Given the description of an element on the screen output the (x, y) to click on. 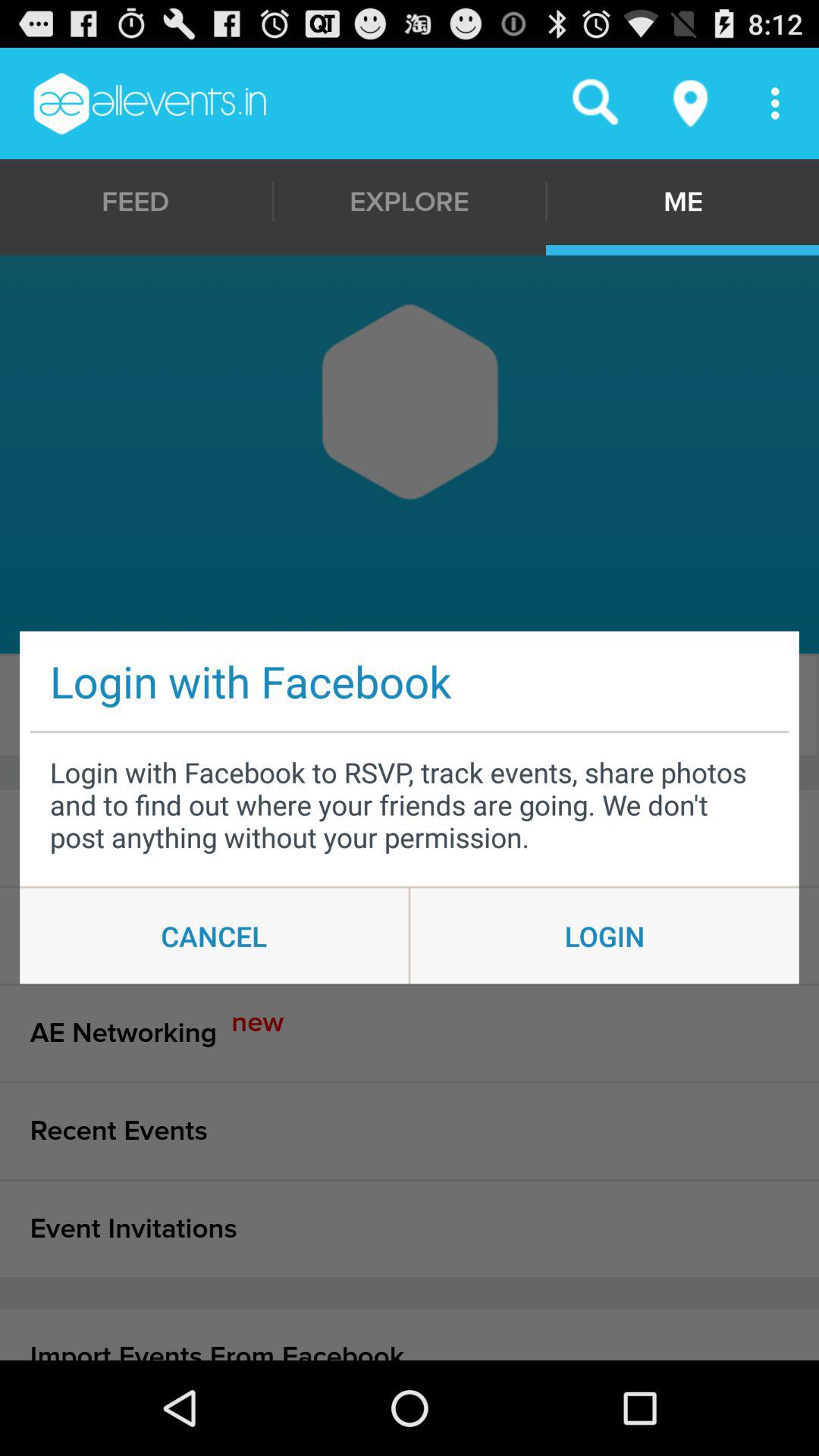
scroll until booking history item (409, 935)
